Given the description of an element on the screen output the (x, y) to click on. 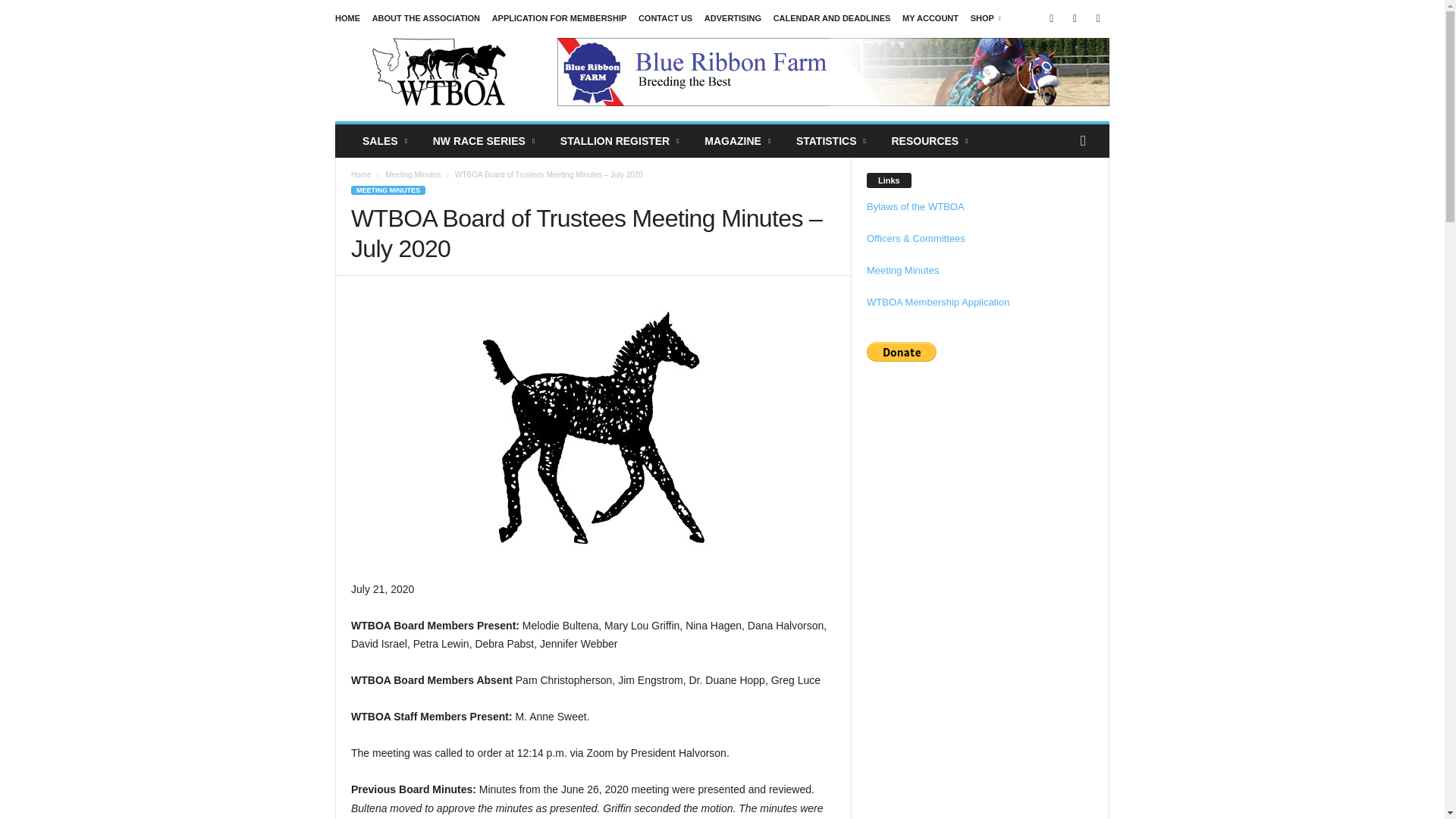
WTBOA (437, 71)
